Given the description of an element on the screen output the (x, y) to click on. 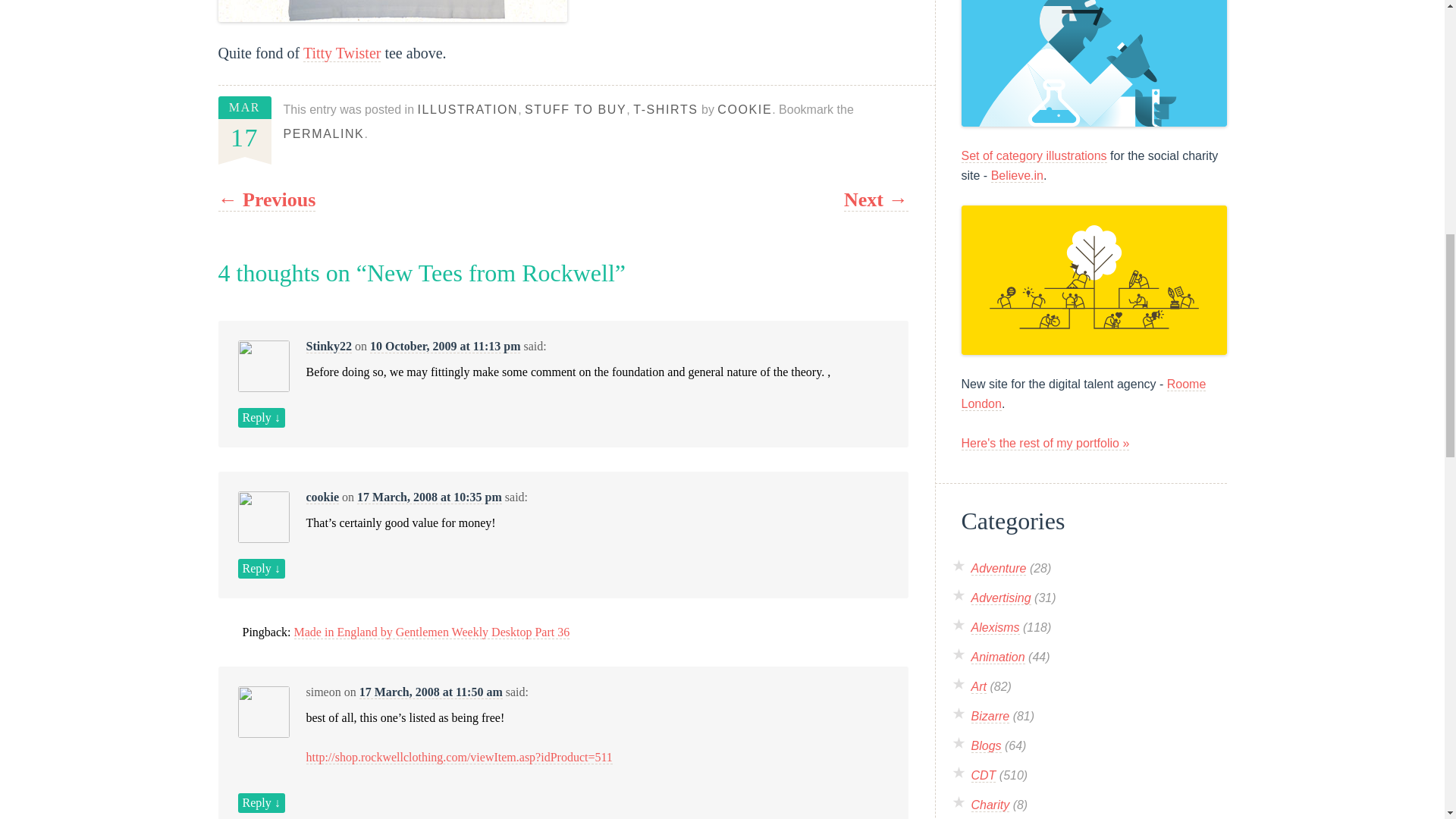
ILLUSTRATION (467, 109)
titty twister (392, 11)
PERMALINK (324, 133)
Permalink to New Tees from Rockwell (324, 133)
Set of category illustrations (1033, 155)
Titty Twister (341, 53)
MAR (244, 106)
COOKIE (744, 109)
Roome London (1083, 394)
Roome London New Site (1093, 279)
